Given the description of an element on the screen output the (x, y) to click on. 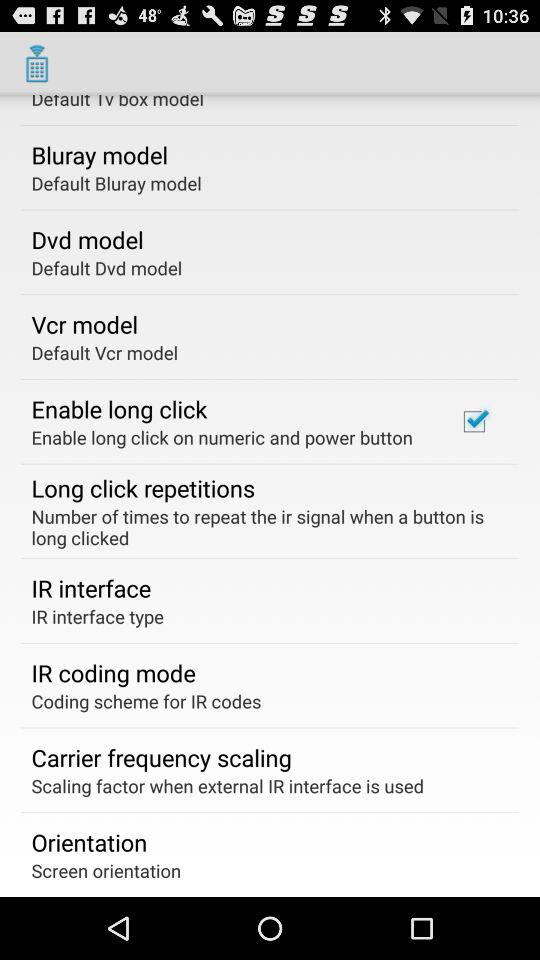
press the coding scheme for (146, 700)
